Given the description of an element on the screen output the (x, y) to click on. 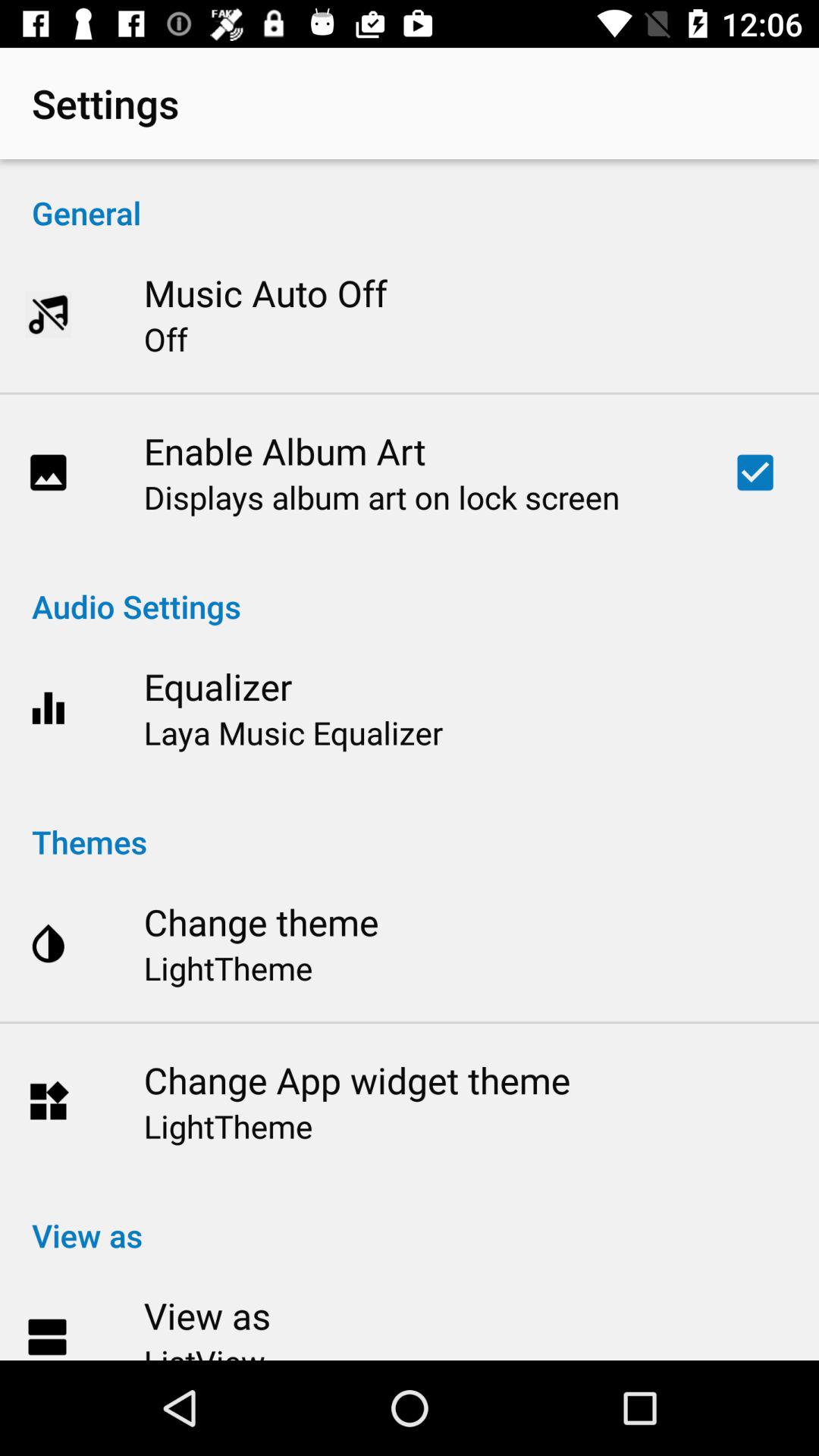
turn on the item to the right of the displays album art icon (755, 472)
